Given the description of an element on the screen output the (x, y) to click on. 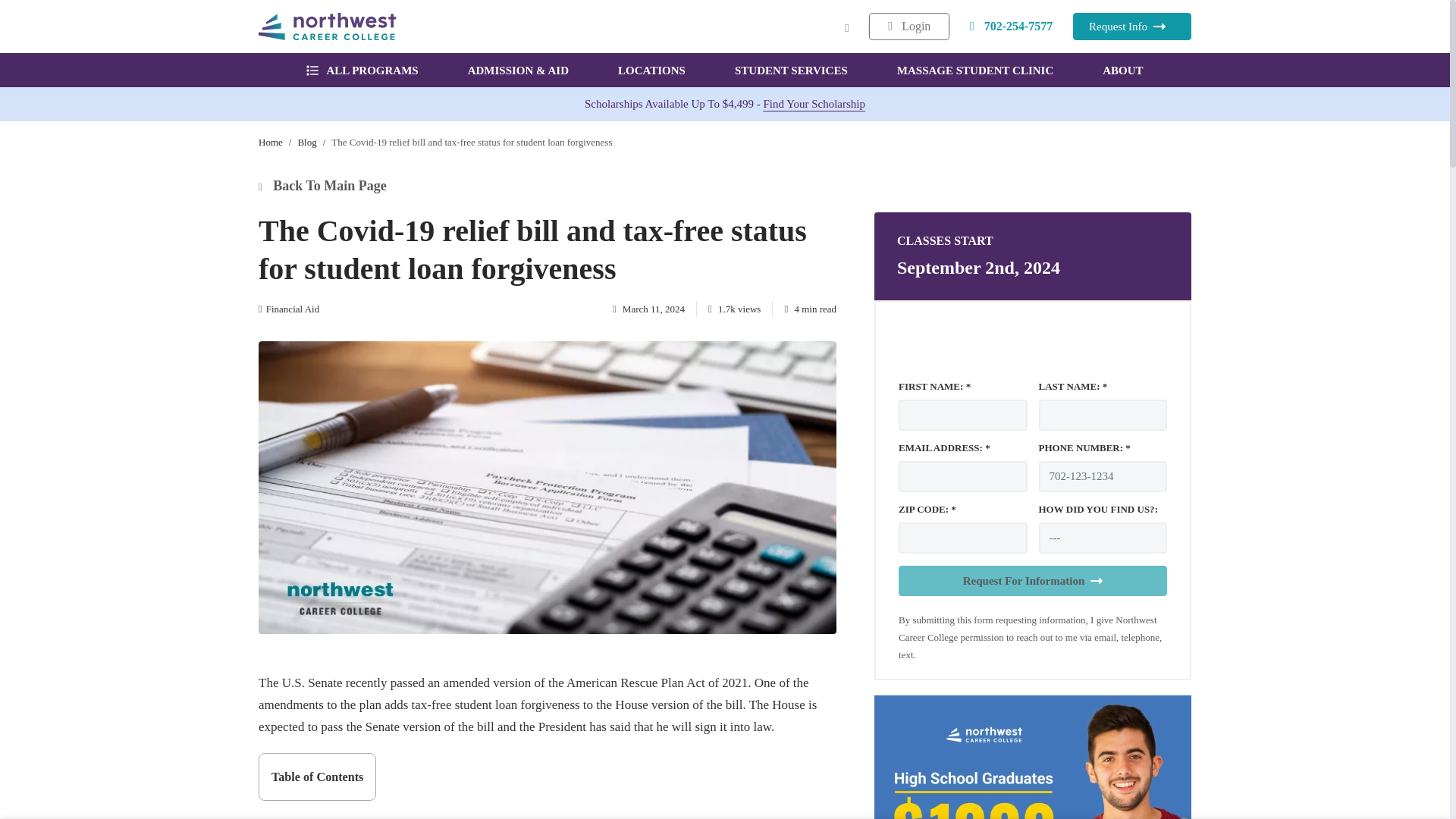
Login (909, 26)
Request Info (1132, 26)
ALL PROGRAMS (362, 69)
Blog (306, 142)
702-254-7577 (1011, 26)
